Given the description of an element on the screen output the (x, y) to click on. 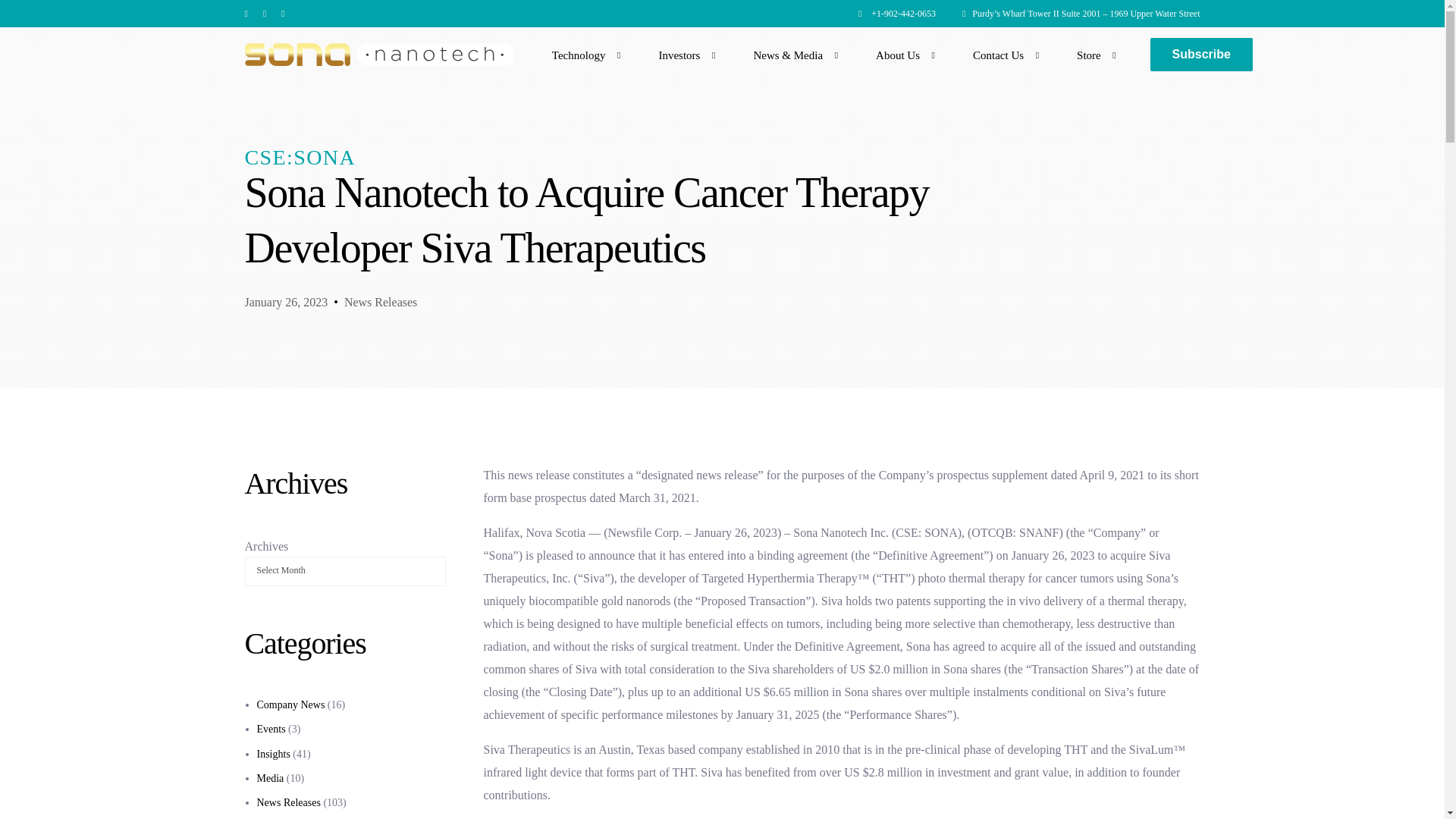
Technology (582, 54)
Contact Us (1002, 54)
Store (1092, 54)
Investors (682, 54)
About Us (901, 54)
